Given the description of an element on the screen output the (x, y) to click on. 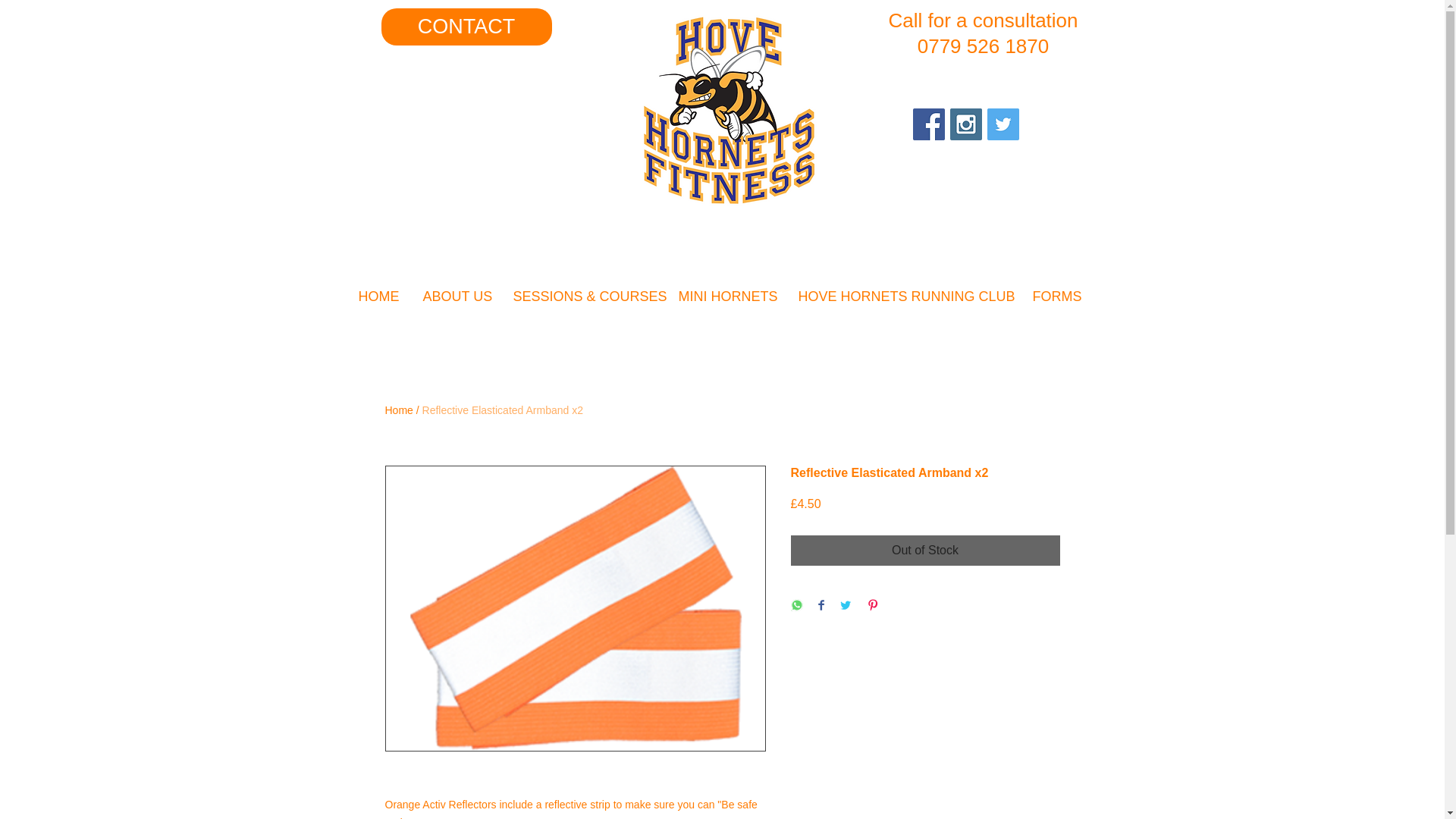
MINI HORNETS (729, 296)
ABOUT US (459, 296)
CONTACT (465, 26)
Out of Stock (924, 550)
FORMS (1059, 296)
Home (399, 410)
HOVE HORNETS RUNNING CLUB (907, 296)
Reflective Elasticated Armband x2 (502, 410)
HOME (382, 296)
